Given the description of an element on the screen output the (x, y) to click on. 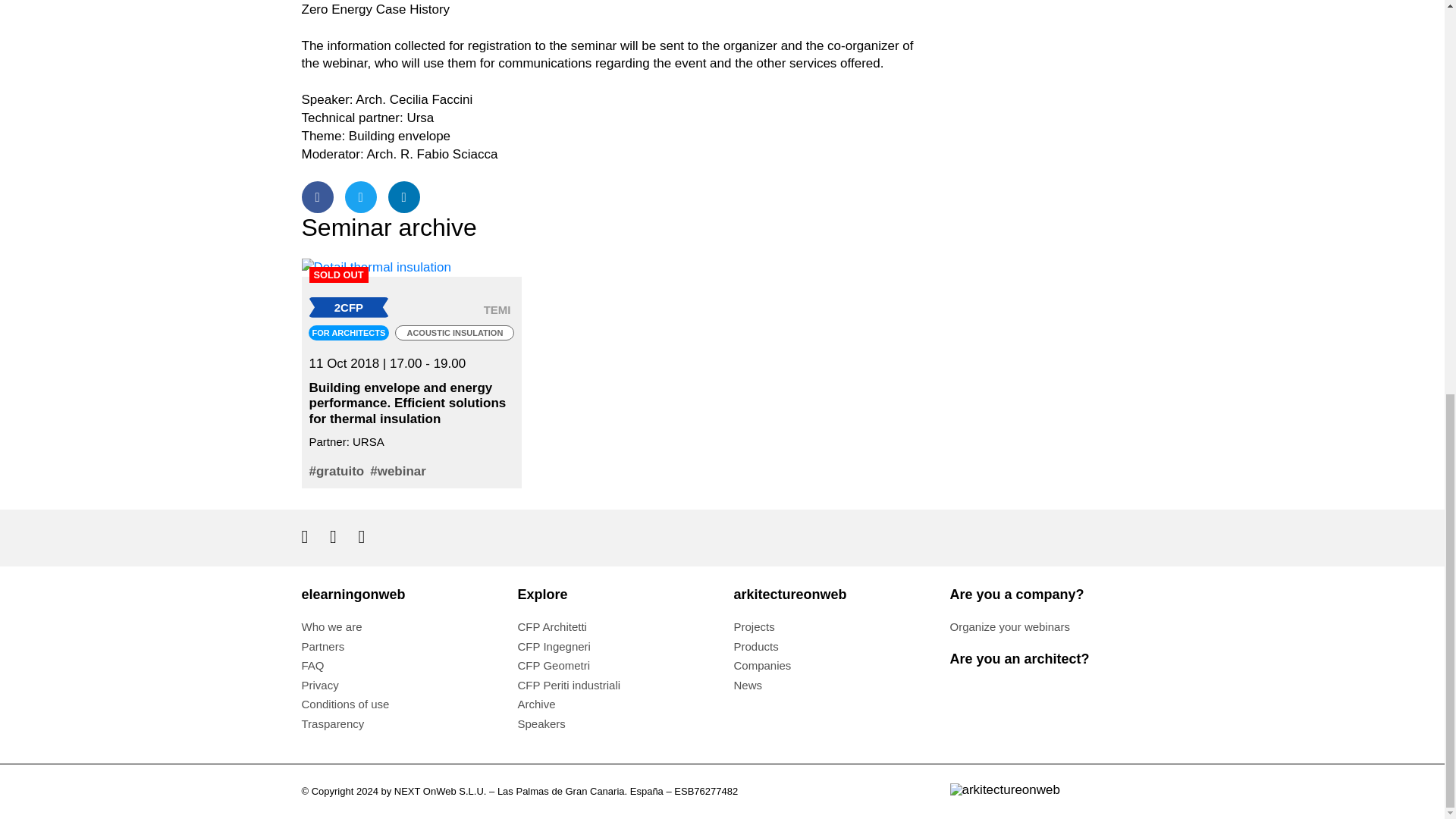
FOR ARCHITECTS (349, 332)
Who we are (331, 626)
ACOUSTIC INSULATION (454, 332)
SOLD OUT (411, 266)
